Given the description of an element on the screen output the (x, y) to click on. 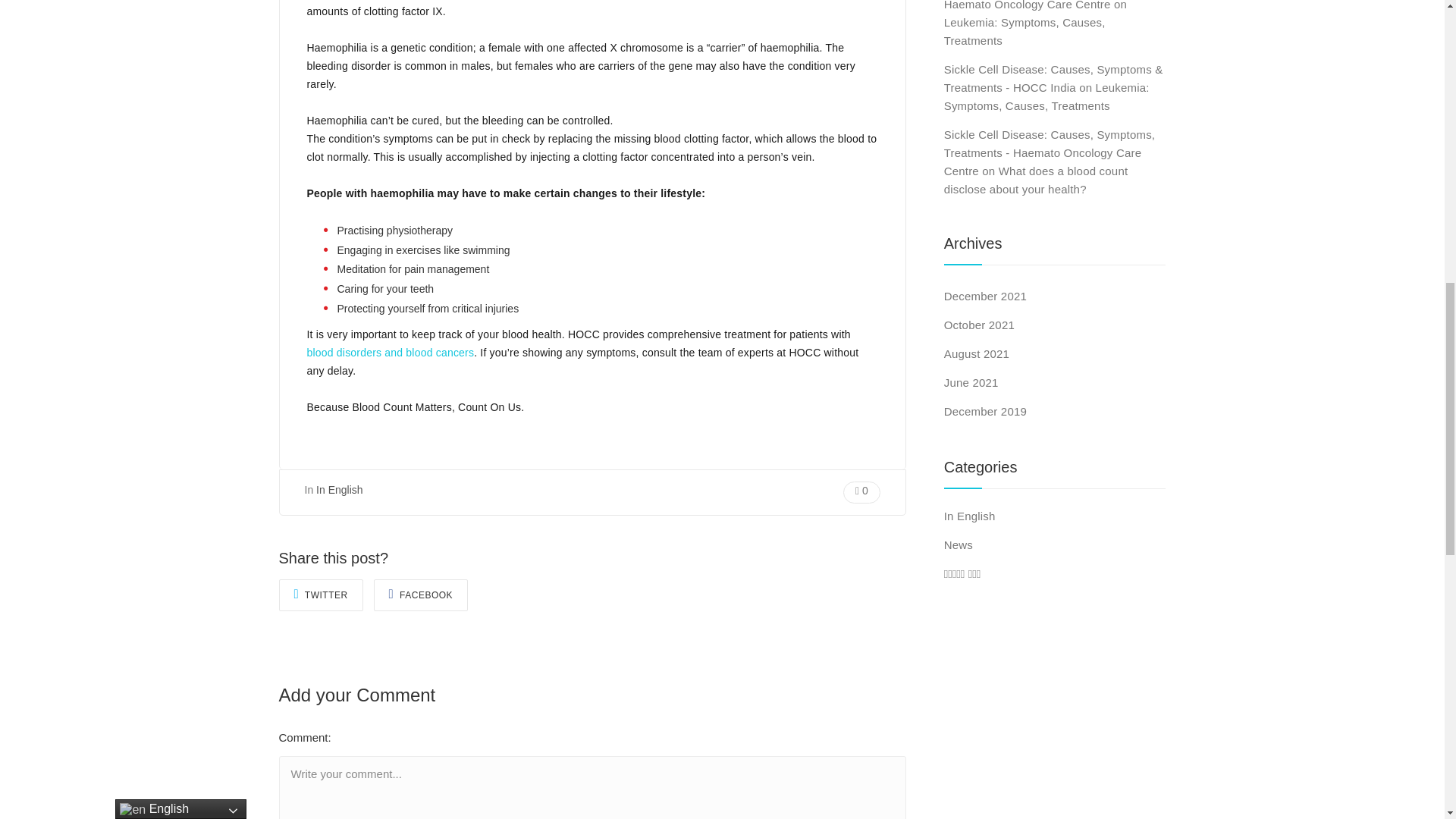
blood disorders and blood cancers (389, 352)
Share On Facebook (421, 594)
Share On Twitter (320, 594)
